Given the description of an element on the screen output the (x, y) to click on. 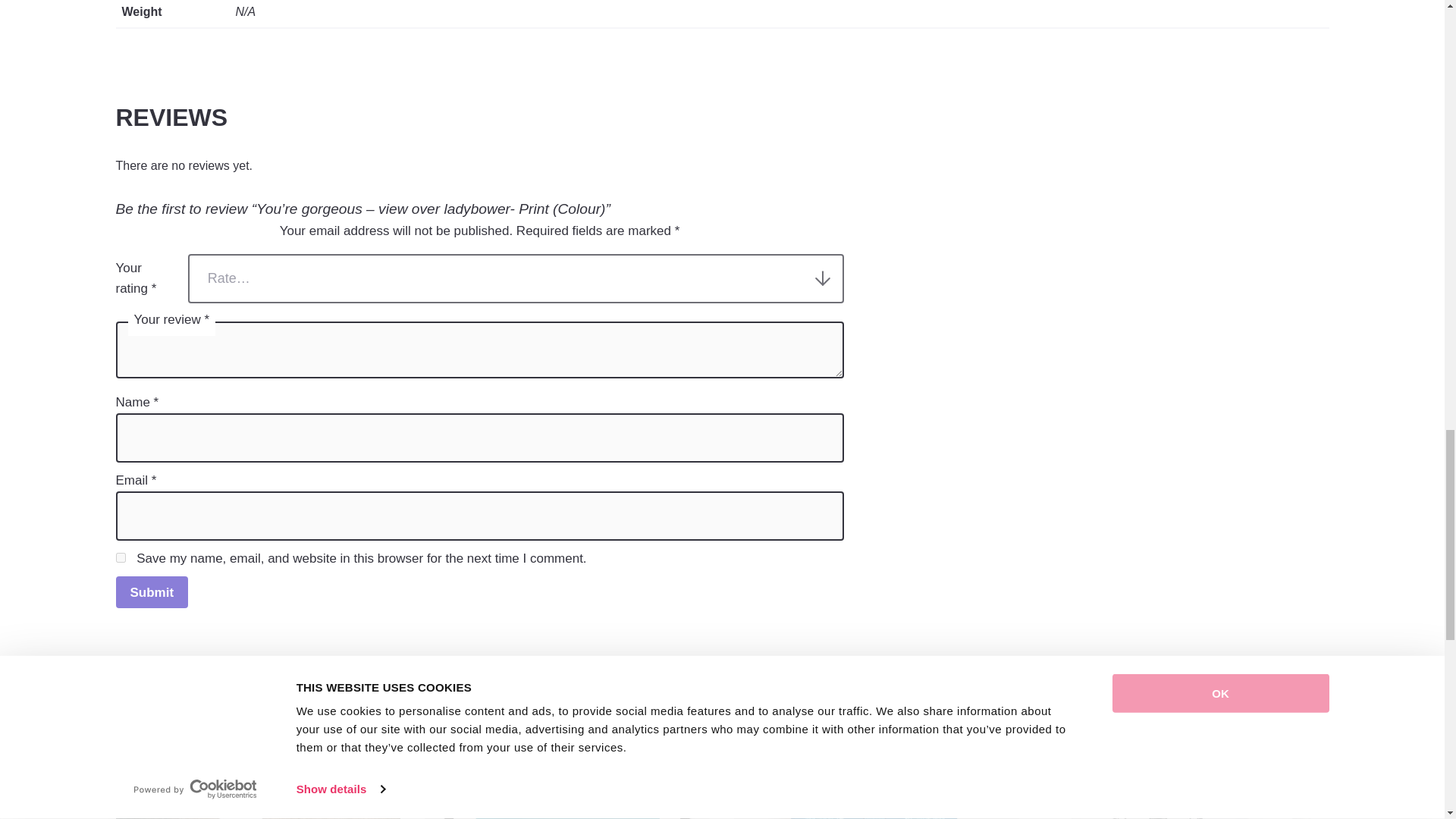
yes (120, 557)
Submit (151, 592)
